Given the description of an element on the screen output the (x, y) to click on. 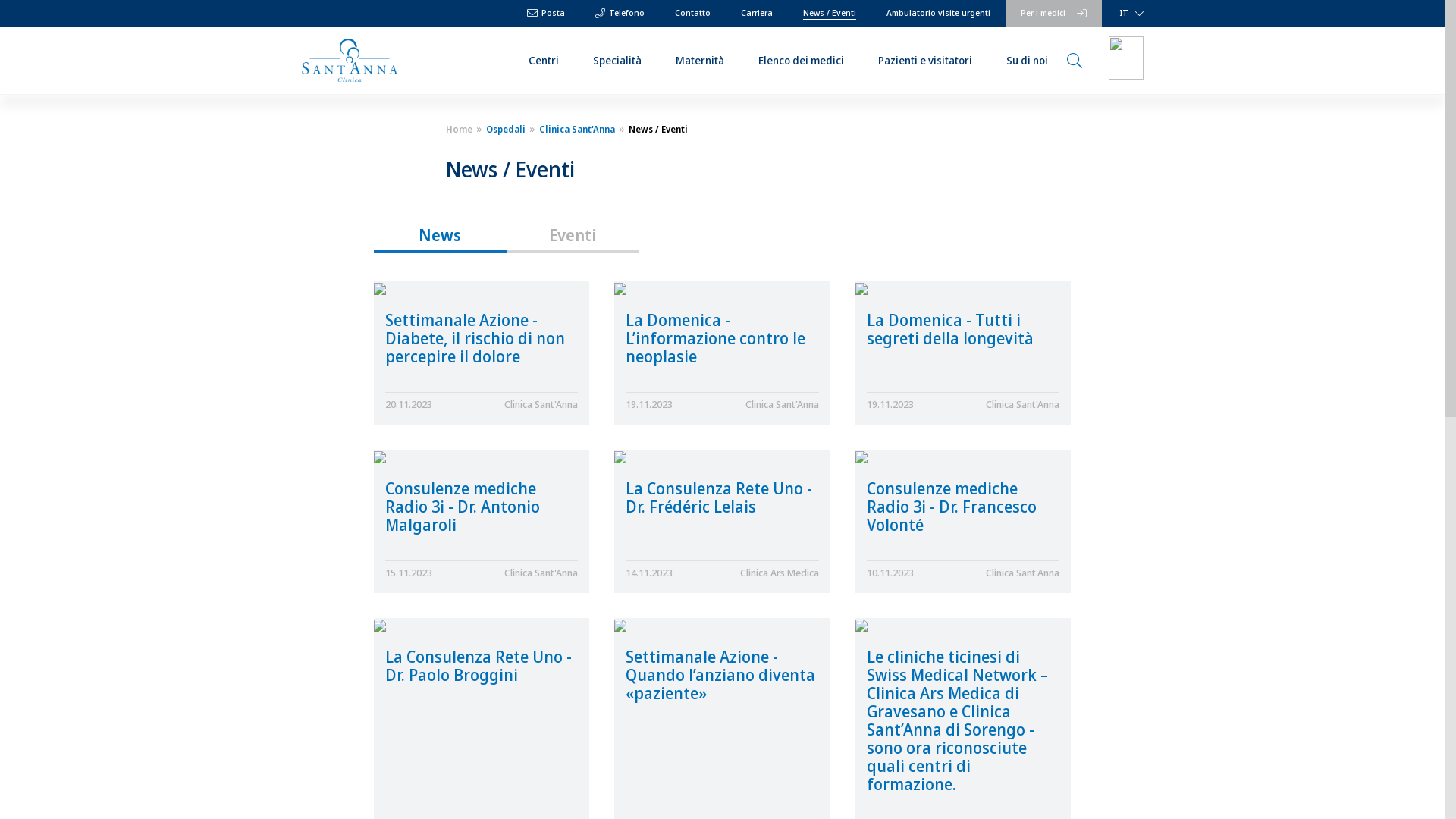
Ospedali Element type: text (503, 128)
IT Element type: text (1127, 13)
News Element type: text (439, 234)
Eventi Element type: text (572, 234)
Home Element type: text (458, 128)
Clinica Sant'Anna Element type: text (575, 128)
